Given the description of an element on the screen output the (x, y) to click on. 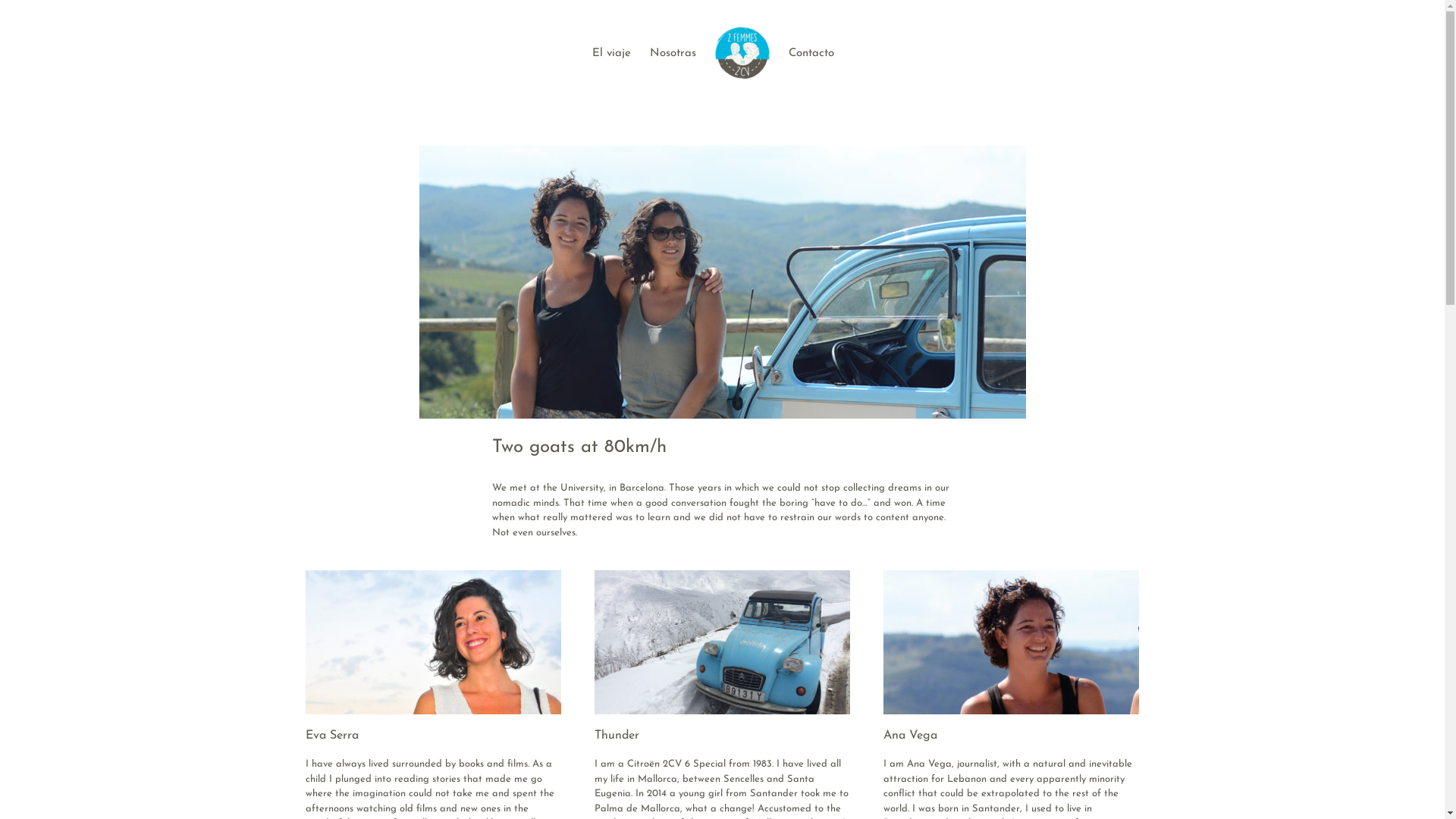
eva-serra Element type: hover (432, 642)
IMG_5480 Element type: hover (722, 642)
El viaje Element type: text (610, 51)
Contacto Element type: text (811, 51)
Italia-Toscana Element type: hover (721, 281)
ana-vega Element type: hover (1011, 642)
Nosotras Element type: text (672, 51)
